Given the description of an element on the screen output the (x, y) to click on. 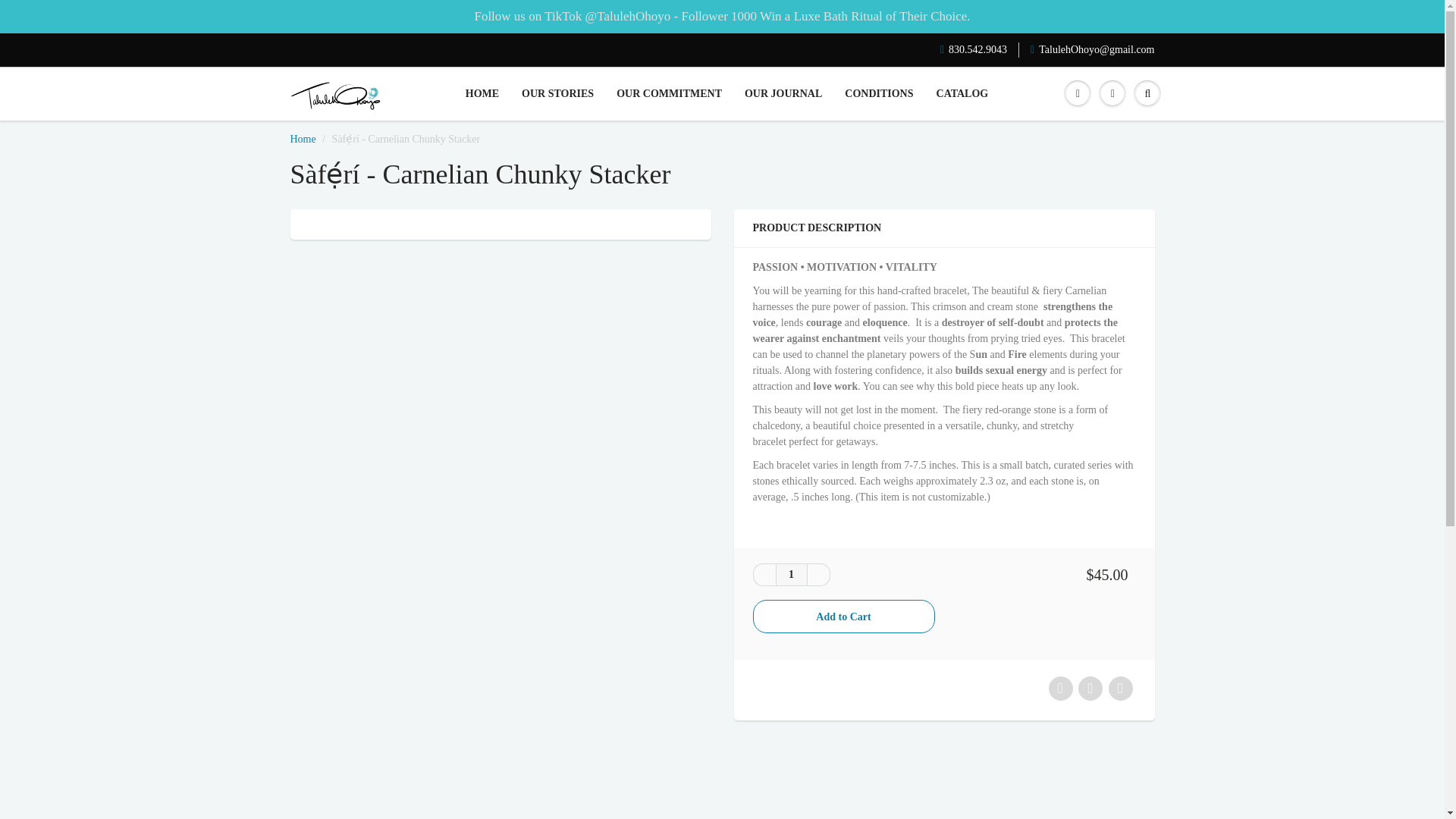
830.542.9043 (973, 49)
Add to Cart (843, 616)
CATALOG (962, 93)
OUR JOURNAL (782, 93)
HOME (482, 93)
CONDITIONS (878, 93)
Home (302, 138)
Add to Cart (843, 616)
OUR COMMITMENT (669, 93)
OUR STORIES (558, 93)
1 (790, 574)
Home (302, 138)
